Given the description of an element on the screen output the (x, y) to click on. 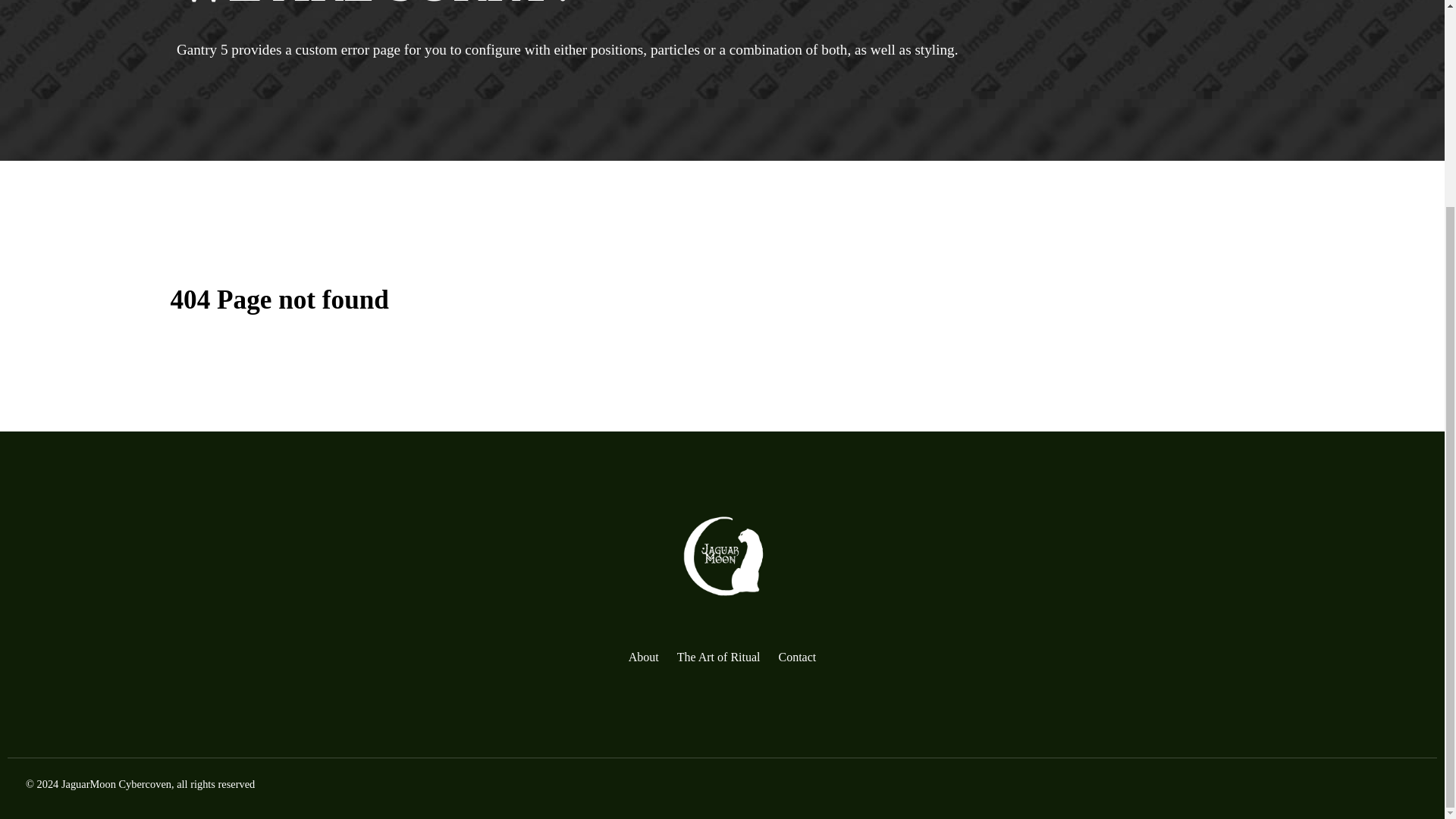
About (643, 656)
The Art of Ritual (718, 656)
JaguarMoon (722, 556)
The Art of Ritual (718, 656)
Contact (796, 656)
About (643, 656)
Contact (796, 656)
